Given the description of an element on the screen output the (x, y) to click on. 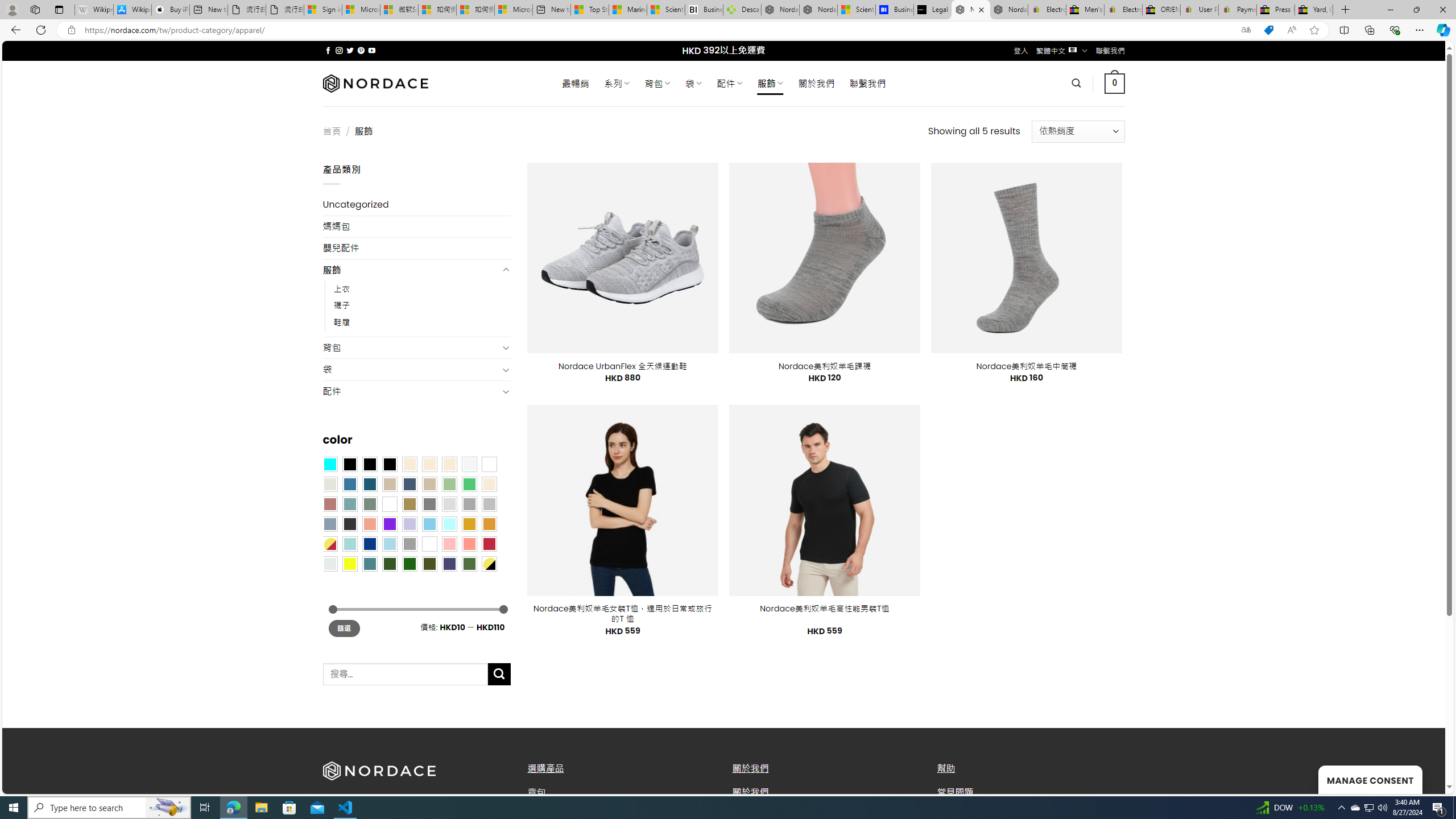
  0   (1115, 83)
This site has coupons! Shopping in Microsoft Edge (1268, 29)
